Given the description of an element on the screen output the (x, y) to click on. 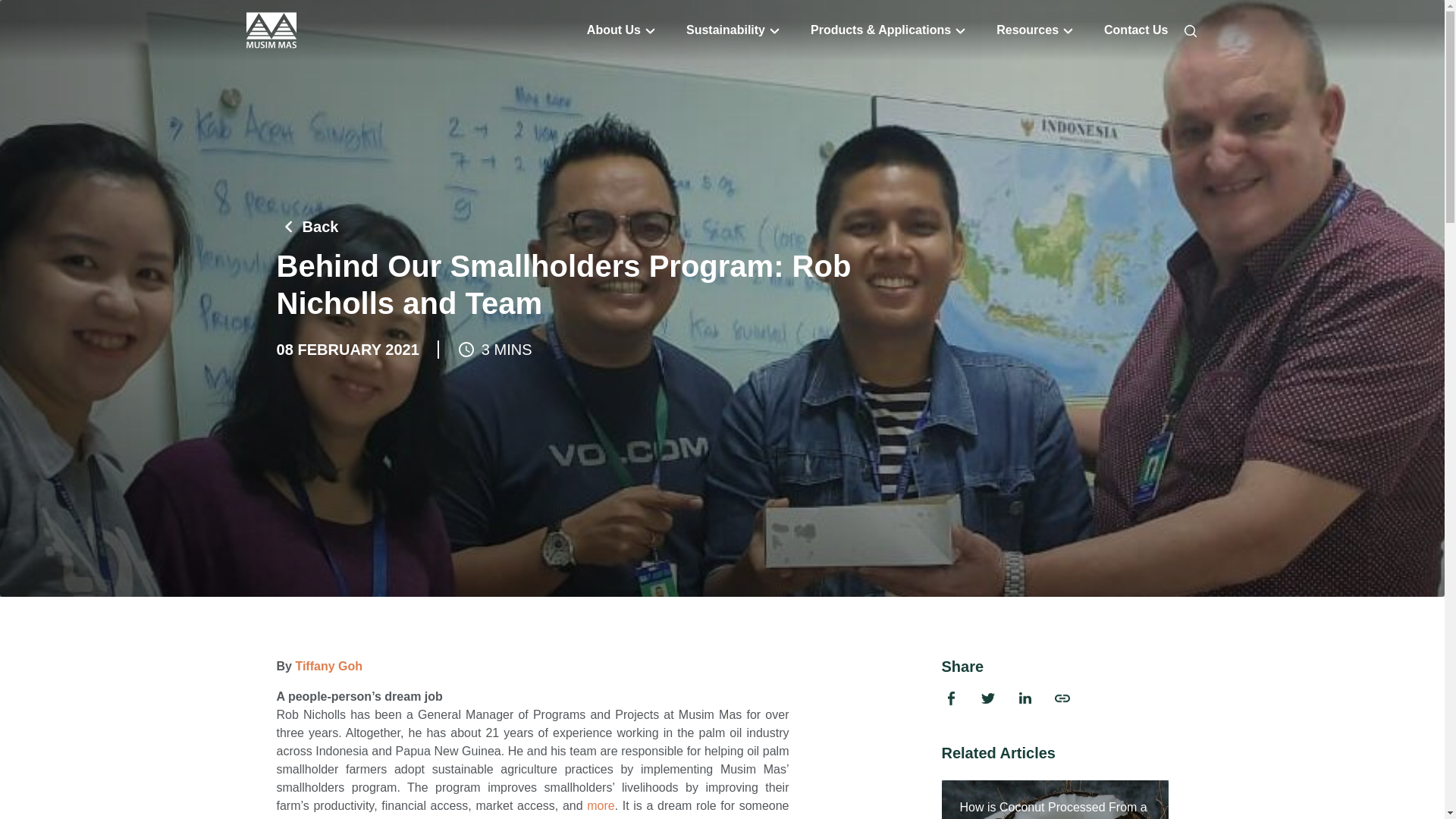
Sustainability (725, 30)
About Us (613, 30)
